Given the description of an element on the screen output the (x, y) to click on. 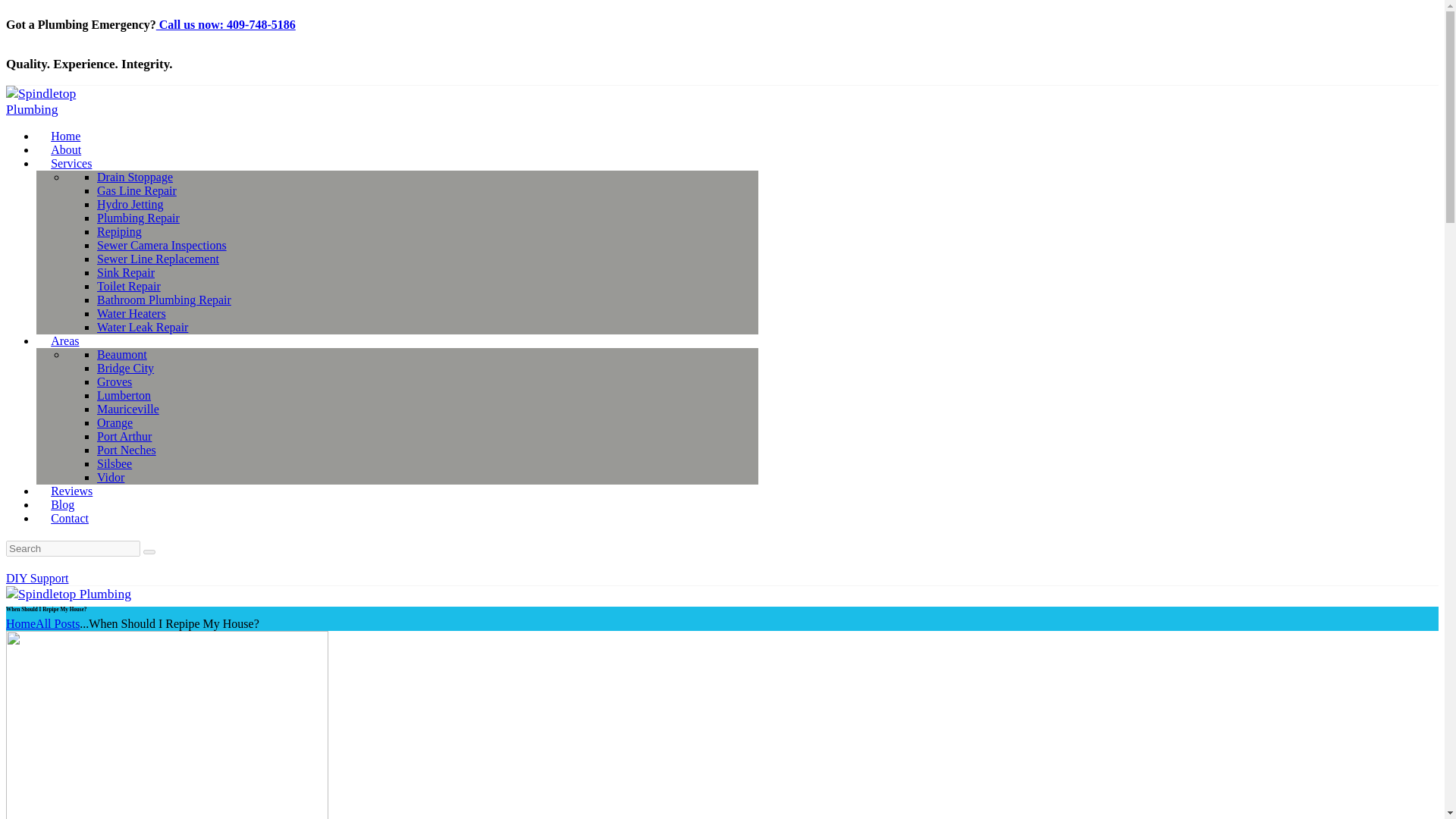
All Posts (57, 623)
Vidor (110, 477)
Water Leak Repair (142, 327)
Silsbee (114, 463)
Drain Stoppage (135, 176)
Orange (114, 422)
DIY Support (36, 577)
Gas Line Repair (136, 190)
Water Heaters (131, 313)
Port Arthur (124, 436)
